Given the description of an element on the screen output the (x, y) to click on. 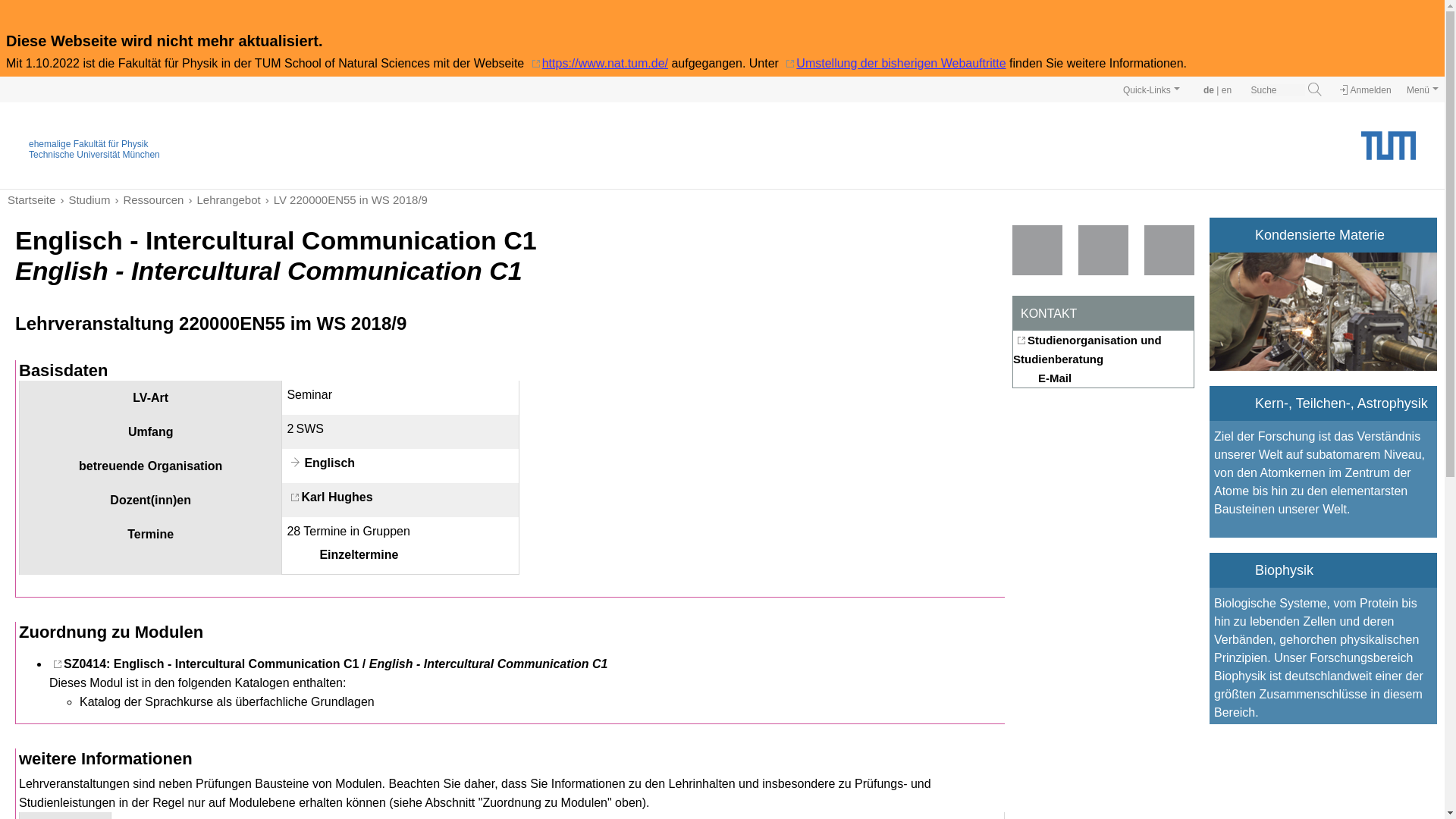
Studium (82, 199)
Quick-Links (1151, 89)
Umstellung der bisherigen Webauftritte (893, 62)
en (1226, 90)
Lehrangebot (221, 199)
es wird die deutsche Sprachversion der Seite angezeigt (1209, 90)
Ressourcen (146, 199)
Startseite (31, 199)
switch to English site (1226, 90)
Karl Hughes (329, 496)
Anmelden (1365, 90)
Einzeltermine (341, 554)
Englisch (320, 462)
